Given the description of an element on the screen output the (x, y) to click on. 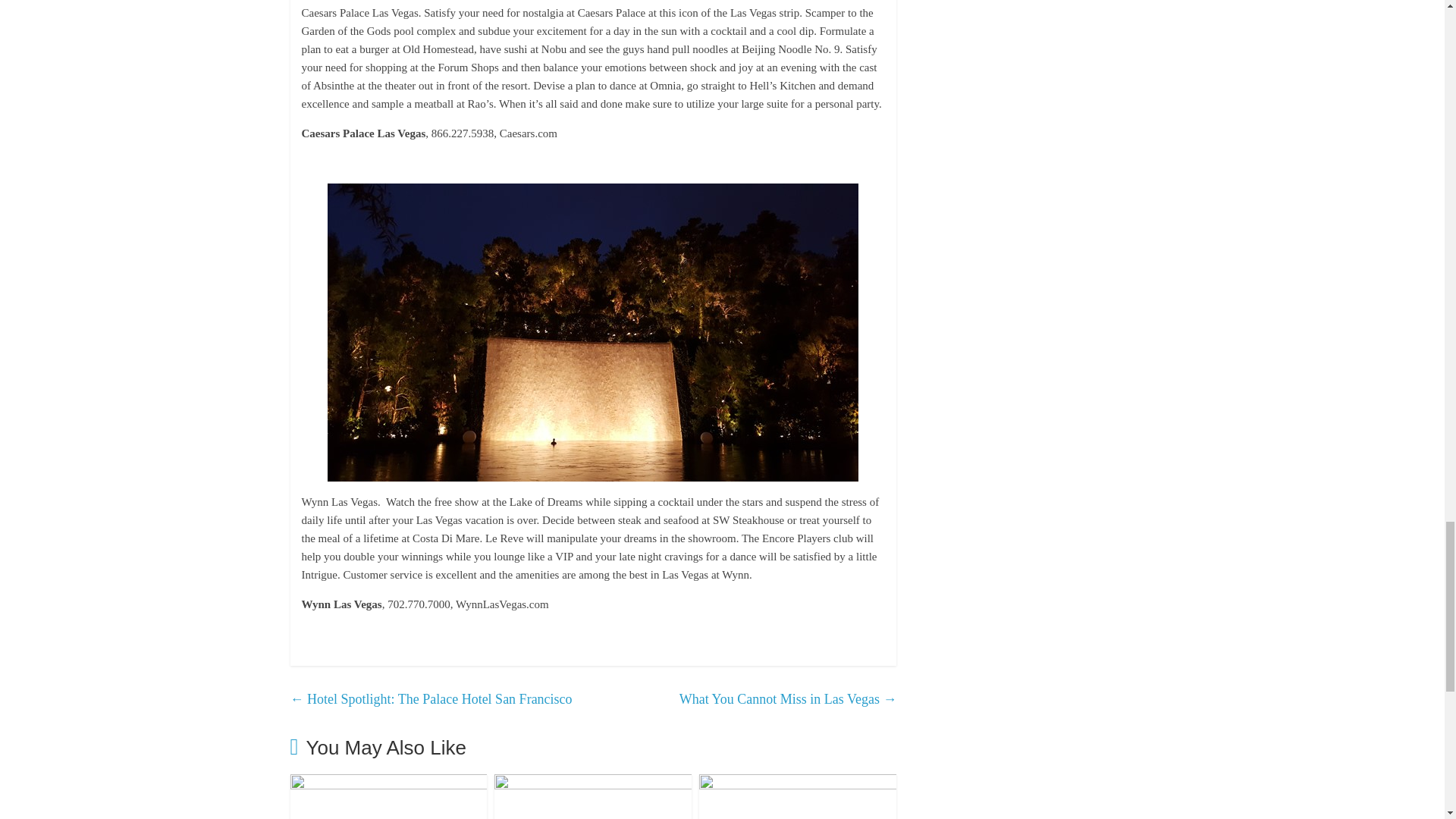
Spa Day for Less in Las Vegas (593, 783)
How Do You Vacation?  8 Ways To Unwind (797, 783)
